Given the description of an element on the screen output the (x, y) to click on. 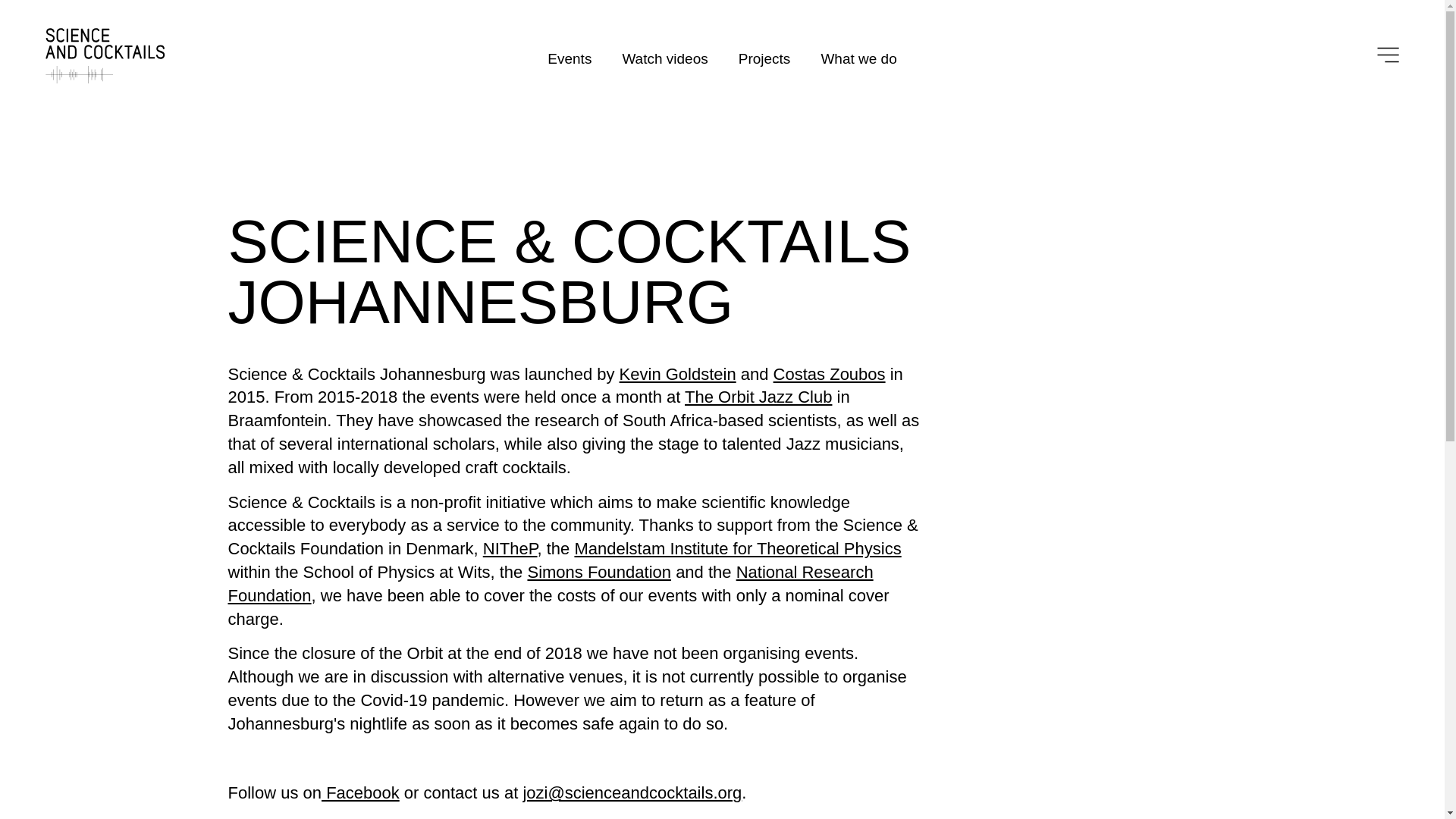
Costas Zoubos (829, 374)
The Orbit Jazz Club (757, 396)
Mandelstam Institute for Theoretical Physics (737, 547)
Events (569, 58)
What we do (858, 58)
Simons Foundation (599, 571)
Kevin Goldstein (678, 374)
Projects (764, 58)
Watch videos (664, 58)
NITheP (510, 547)
